Given the description of an element on the screen output the (x, y) to click on. 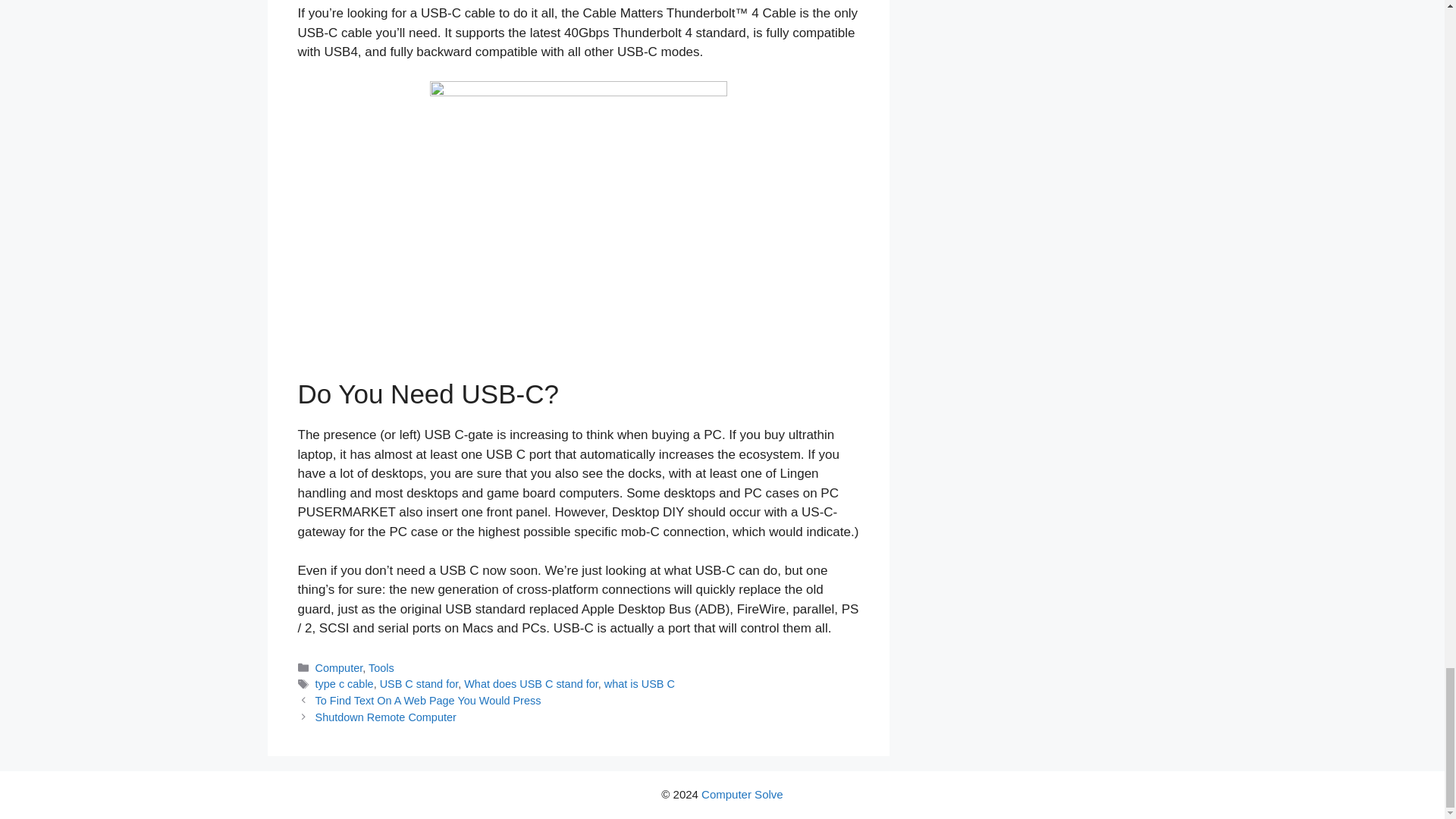
What does USB C stand for (531, 684)
type c cable (344, 684)
USB C stand for (419, 684)
Tools (381, 667)
Computer (338, 667)
